Given the description of an element on the screen output the (x, y) to click on. 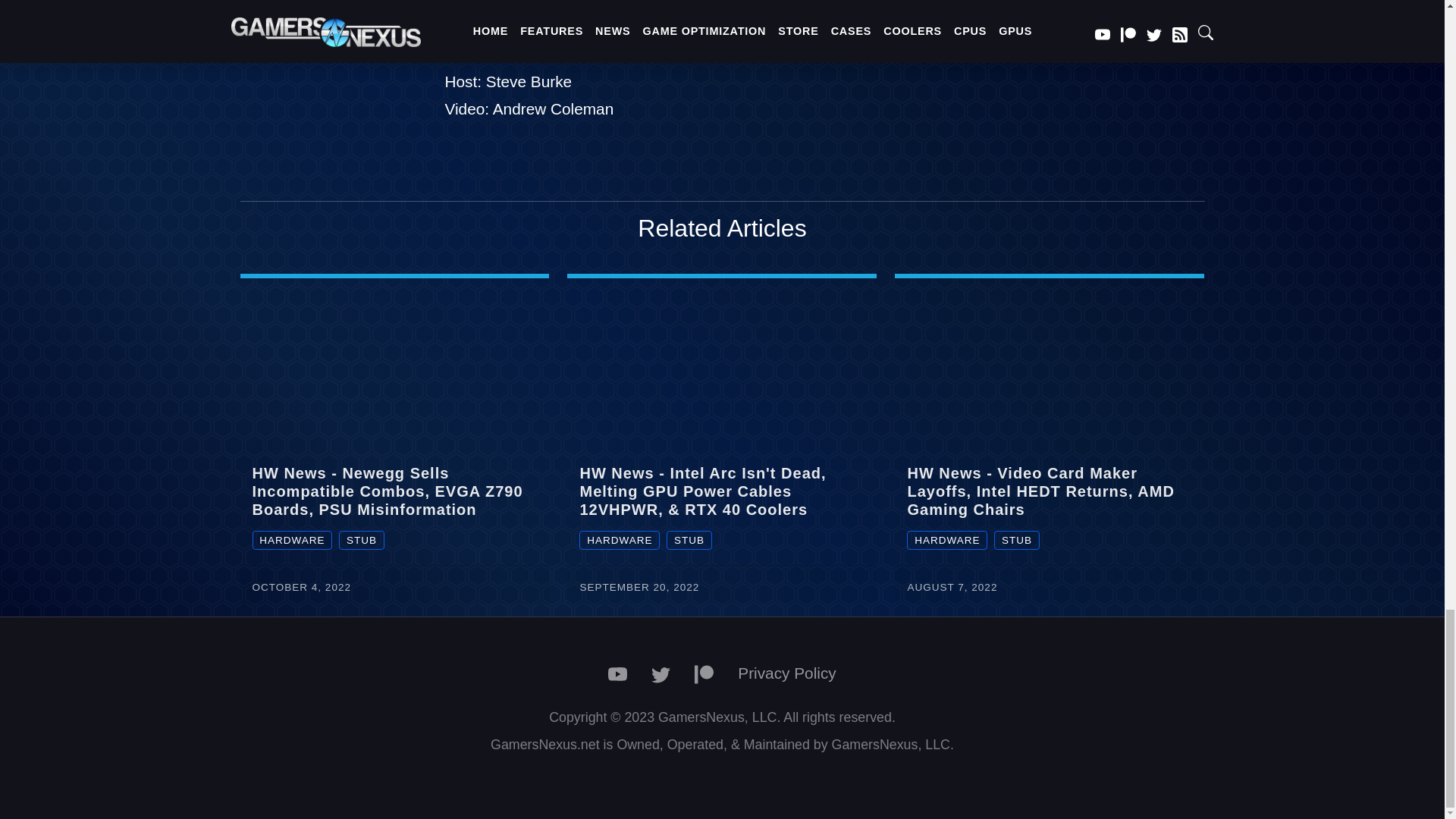
Privacy Policy (786, 672)
